Given the description of an element on the screen output the (x, y) to click on. 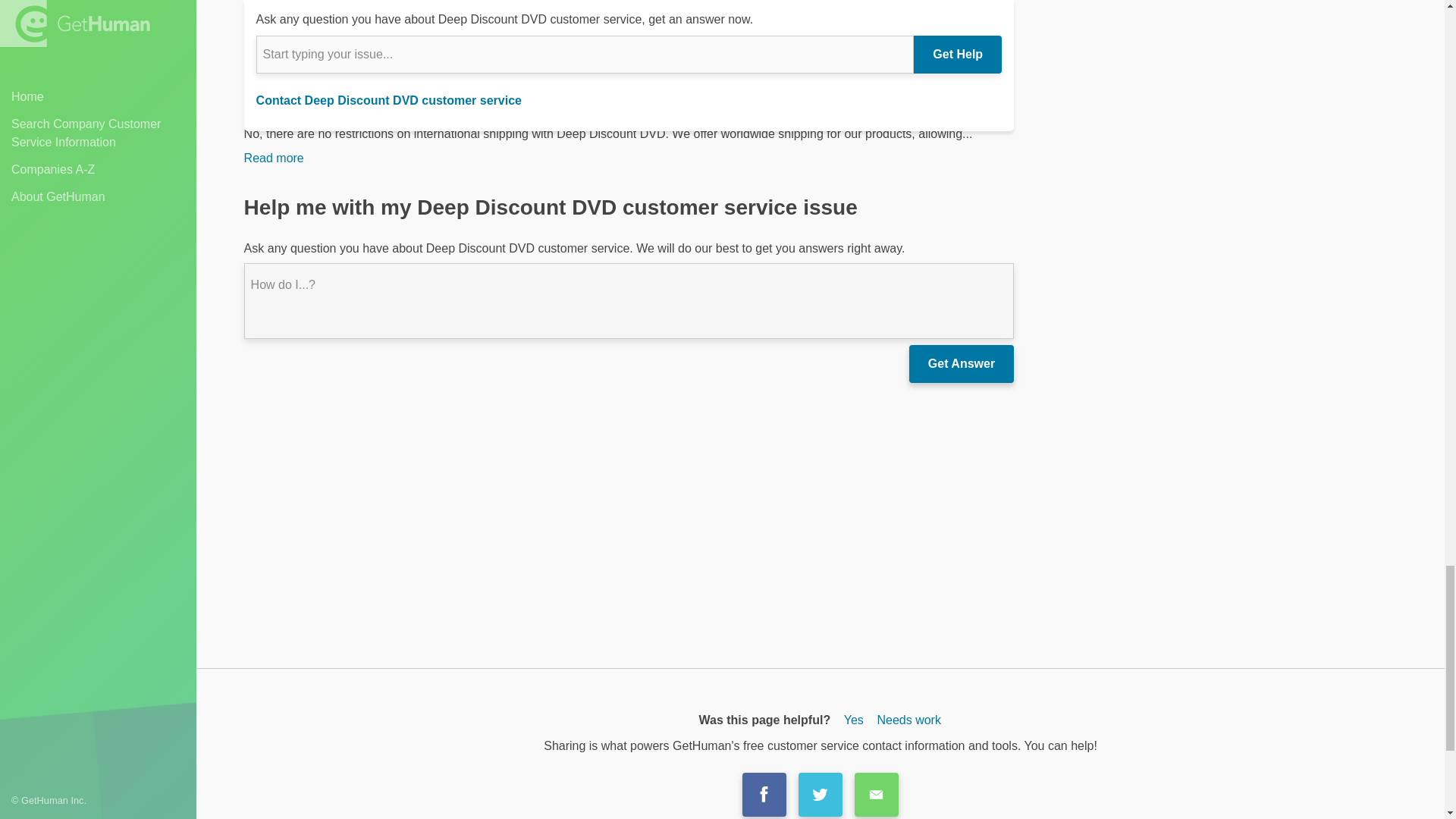
Share via Twitter (819, 794)
Get Answer (960, 363)
Share via Email (876, 794)
Share with Facebook (764, 794)
